Given the description of an element on the screen output the (x, y) to click on. 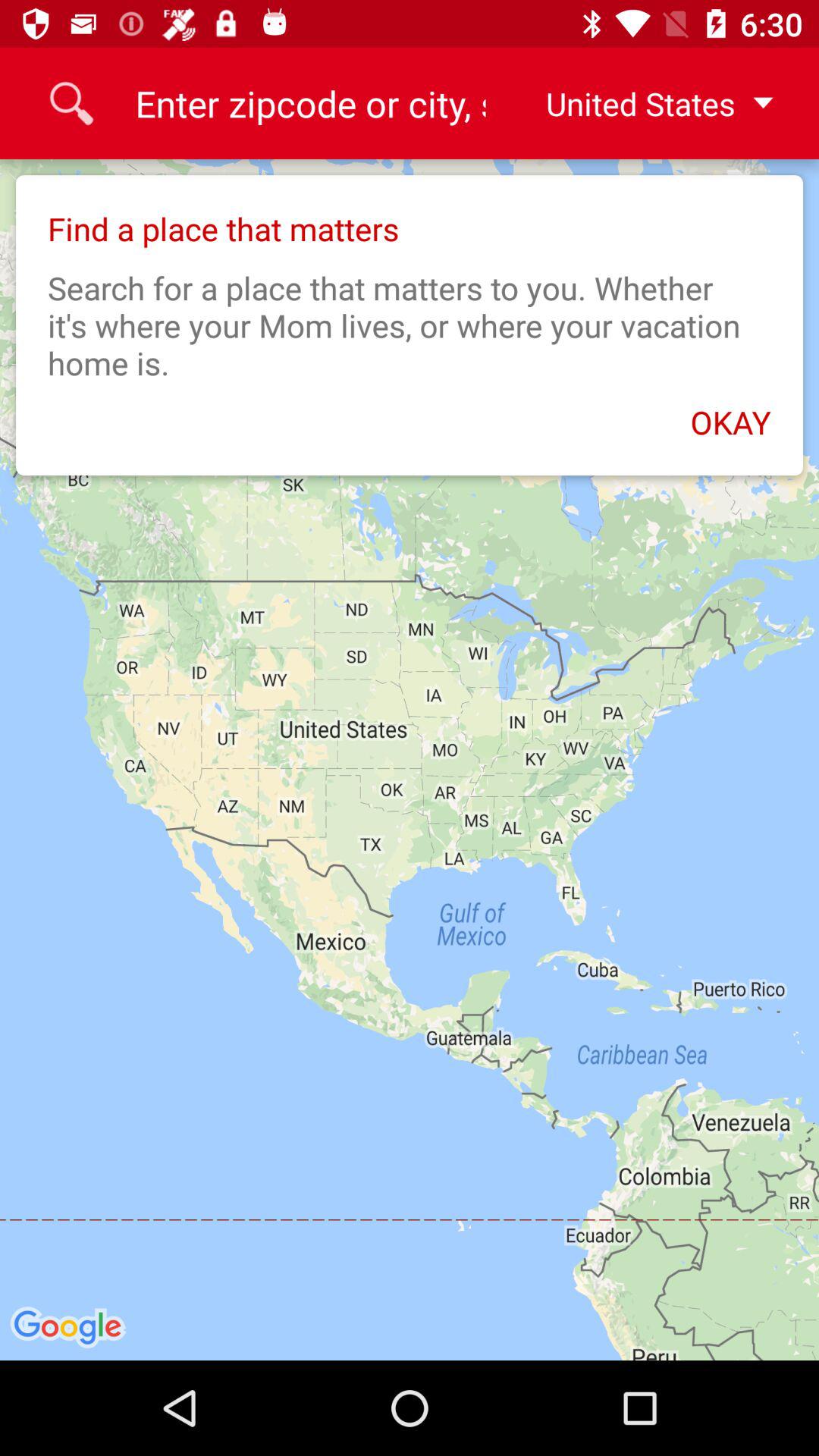
click the icon at the top right corner (647, 103)
